Given the description of an element on the screen output the (x, y) to click on. 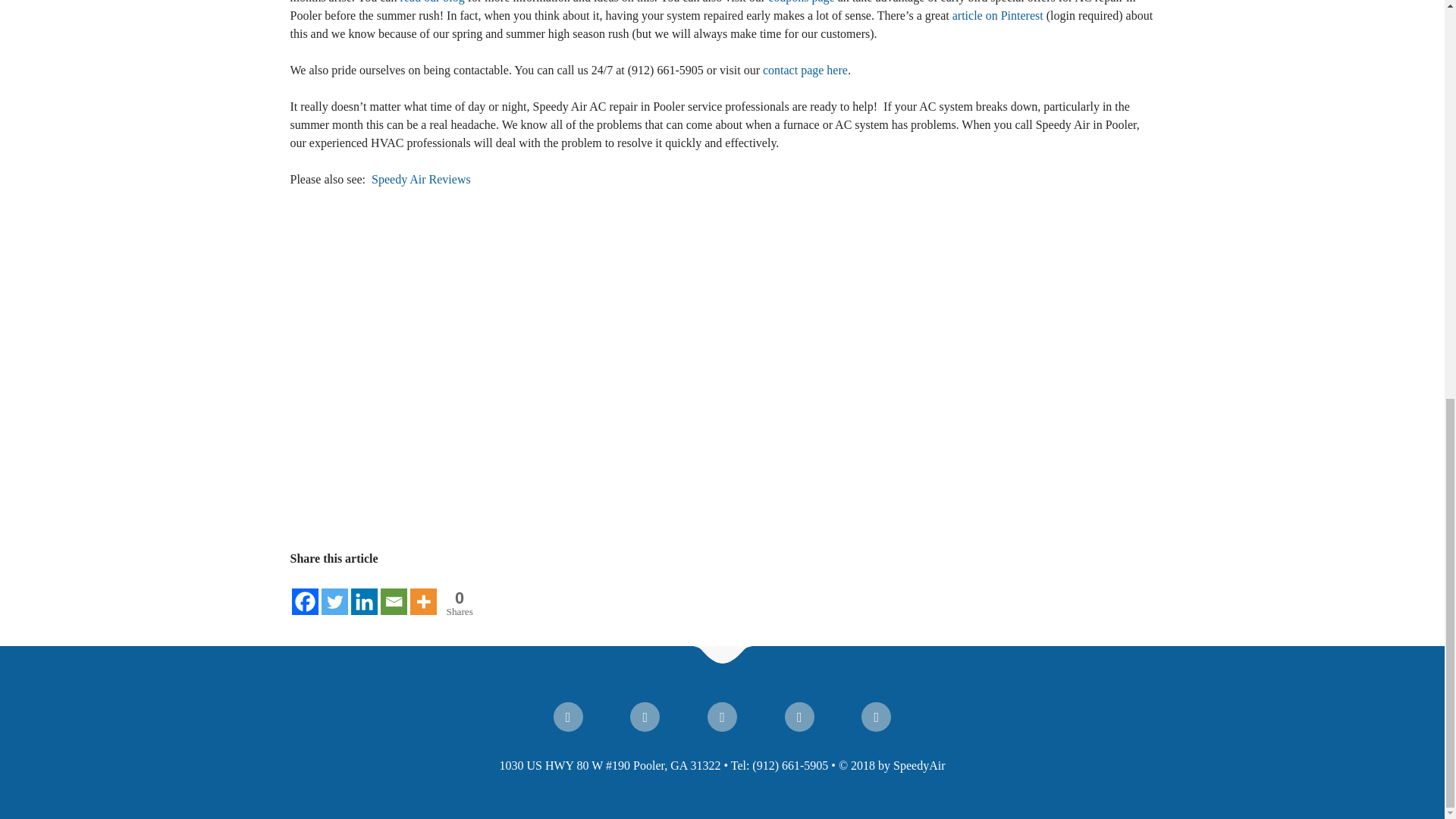
Total Shares (458, 602)
